Given the description of an element on the screen output the (x, y) to click on. 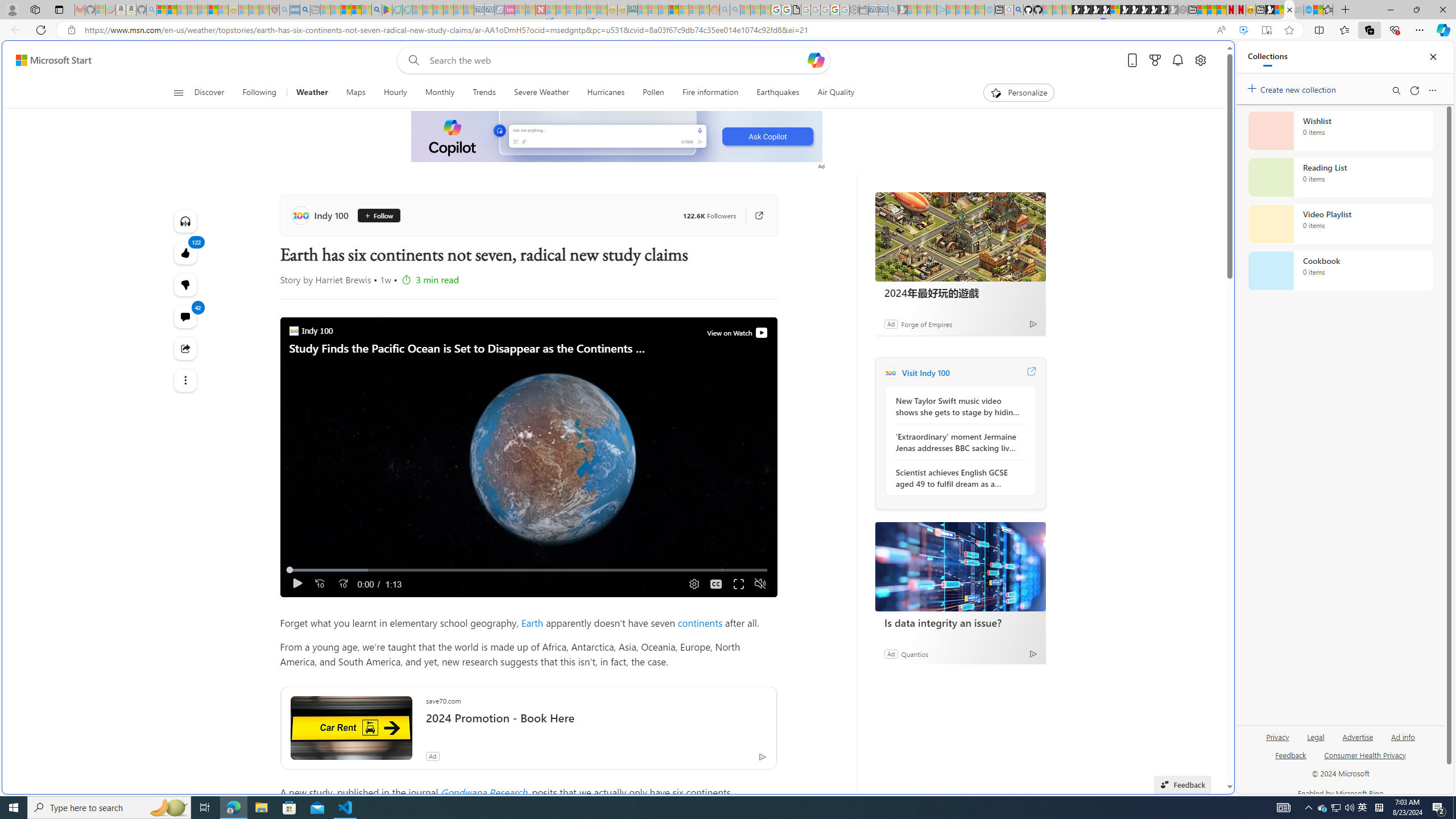
To get missing image descriptions, open the context menu. (617, 136)
Navy Quest (1299, 9)
Quality Settings (692, 583)
Latest Politics News & Archive | Newsweek.com - Sleeping (539, 9)
google_privacy_policy_zh-CN.pdf (796, 9)
Open settings (1199, 60)
Unmute (759, 583)
Skip to content (49, 59)
Hourly (394, 92)
